Given the description of an element on the screen output the (x, y) to click on. 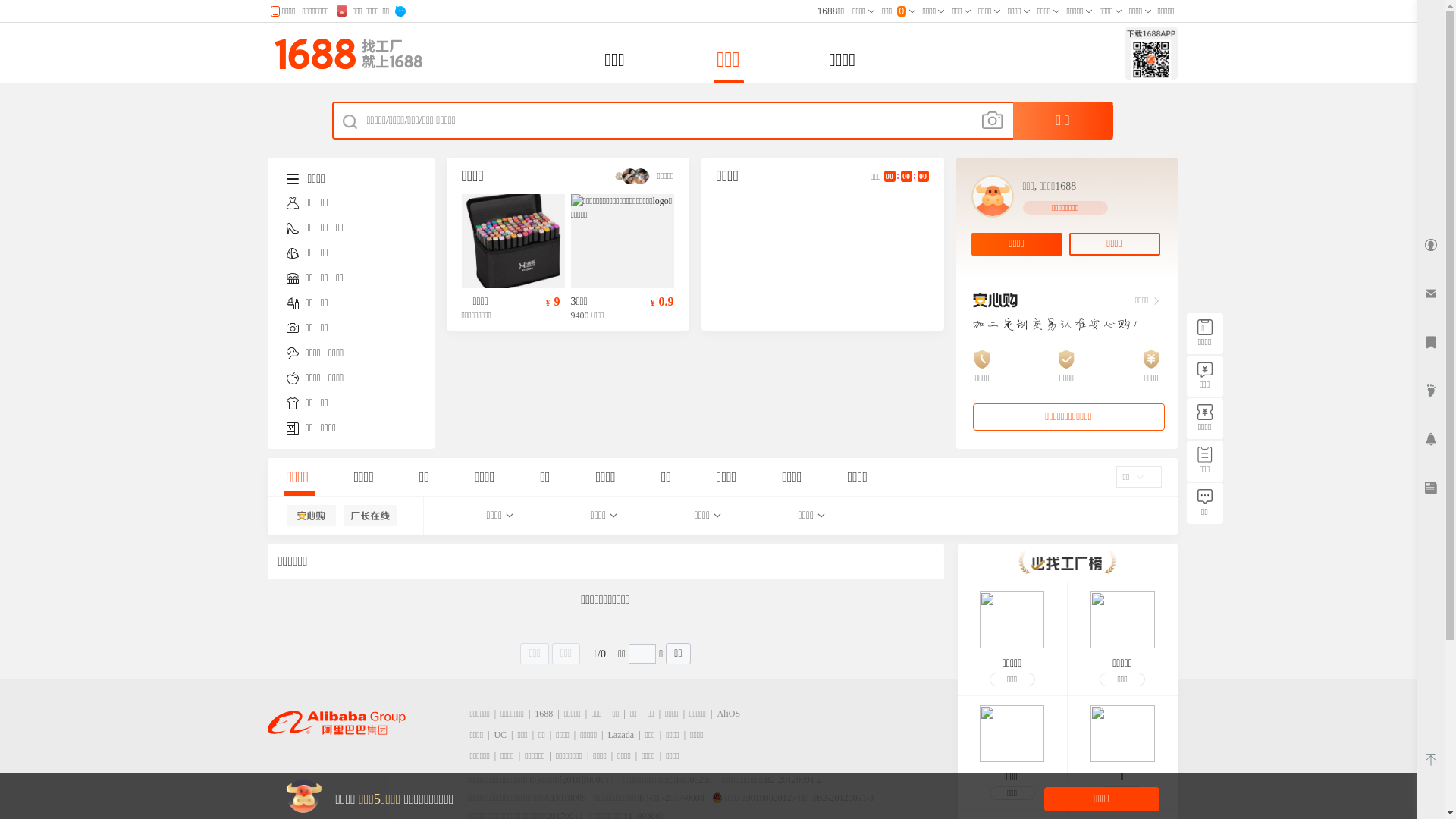
1688 Element type: text (543, 713)
Lazada Element type: text (621, 734)
UC Element type: text (499, 734)
AliOS Element type: text (728, 713)
